Given the description of an element on the screen output the (x, y) to click on. 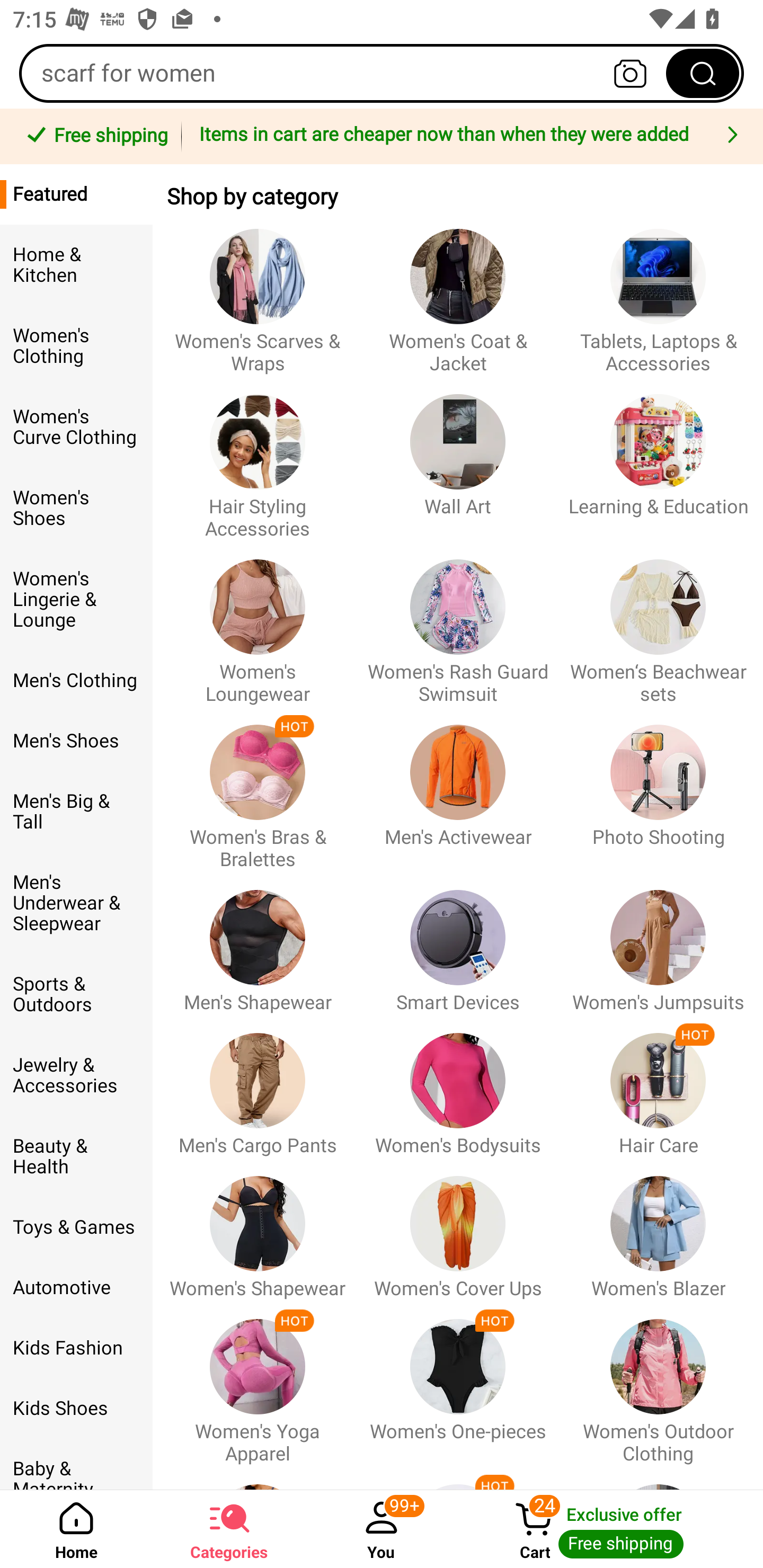
scarf for women (381, 73)
 Free shipping (93, 136)
Featured (76, 194)
Women's Scarves & Wraps (257, 292)
Women's Coat & Jacket (457, 292)
Tablets, Laptops & Accessories (657, 292)
Home & Kitchen (76, 264)
Women's Clothing (76, 346)
Hair Styling Accessories (257, 457)
Wall Art (457, 457)
Learning & Education (657, 457)
Women's Curve Clothing (76, 427)
Women's Shoes (76, 507)
Women's Loungewear (257, 622)
Women's Rash Guard Swimsuit (457, 622)
Women‘s Beachwear sets (657, 622)
Women's Lingerie & Lounge (76, 599)
Men's Clothing (76, 680)
Women's Bras & Bralettes (257, 787)
Men's Activewear (457, 787)
Photo Shooting (657, 787)
Men's Shoes (76, 740)
Men's Big & Tall (76, 811)
Men's Underwear & Sleepwear (76, 902)
Men's Shapewear (257, 942)
Smart Devices (457, 942)
Women's Jumpsuits (657, 942)
Sports & Outdoors (76, 993)
Men's Cargo Pants (257, 1085)
Women's Bodysuits (457, 1085)
Hair Care (657, 1085)
Jewelry & Accessories (76, 1075)
Beauty & Health (76, 1156)
Women's Shapewear (257, 1228)
Women's Cover Ups (457, 1228)
Women's Blazer (657, 1228)
Toys & Games (76, 1227)
Automotive (76, 1287)
Women's Yoga Apparel (257, 1381)
Women's One-pieces (457, 1381)
Women's Outdoor Clothing (657, 1381)
Kids Fashion (76, 1348)
Kids Shoes (76, 1408)
Baby & Maternity (76, 1464)
Home (76, 1528)
Categories (228, 1528)
You ‎99+‎ You (381, 1528)
Cart 24 Cart Exclusive offer (610, 1528)
